Given the description of an element on the screen output the (x, y) to click on. 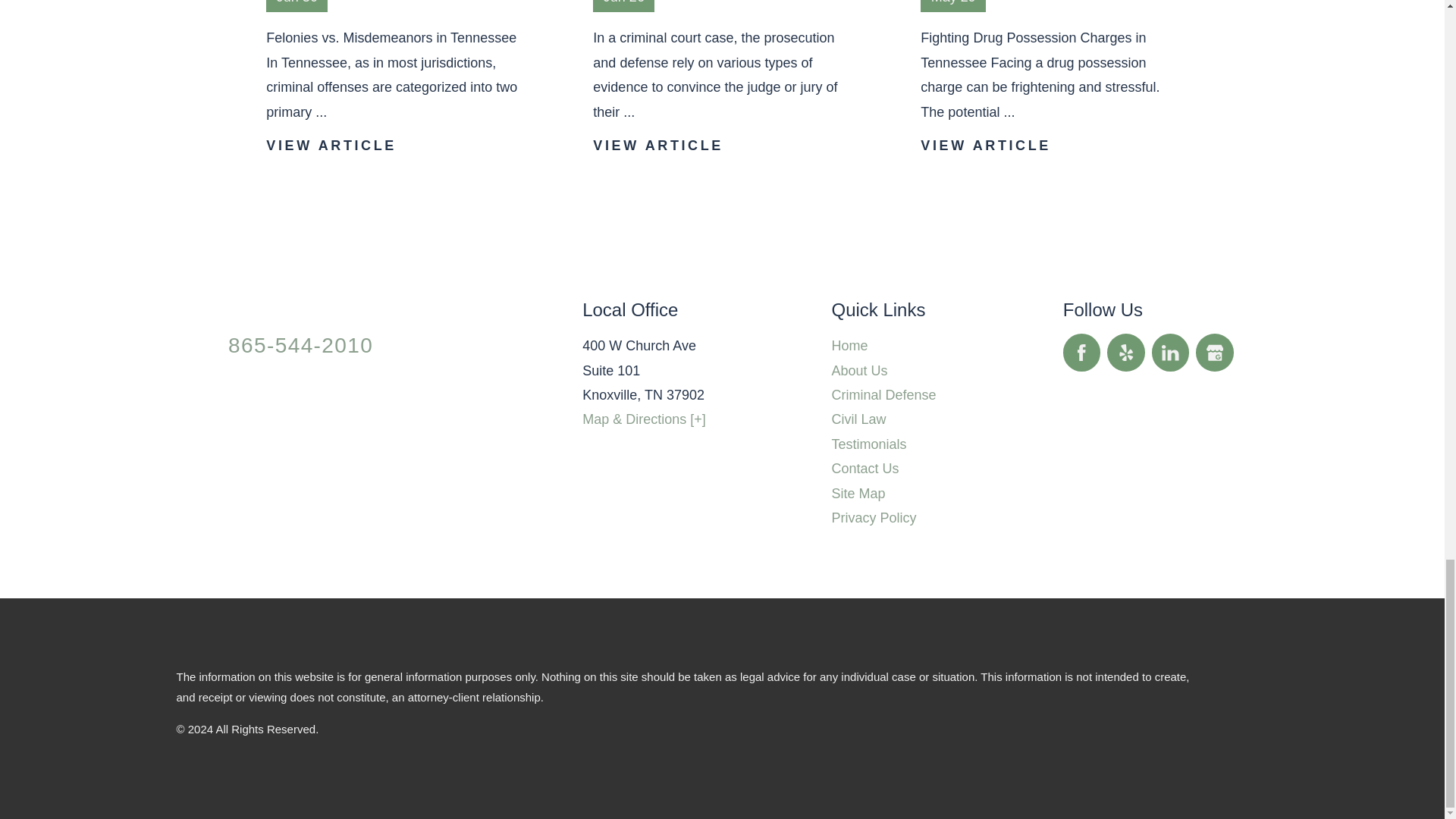
Facebook (1081, 352)
Google Business Profile (1214, 352)
LinkedIn (1170, 352)
Yelp (1125, 352)
